Given the description of an element on the screen output the (x, y) to click on. 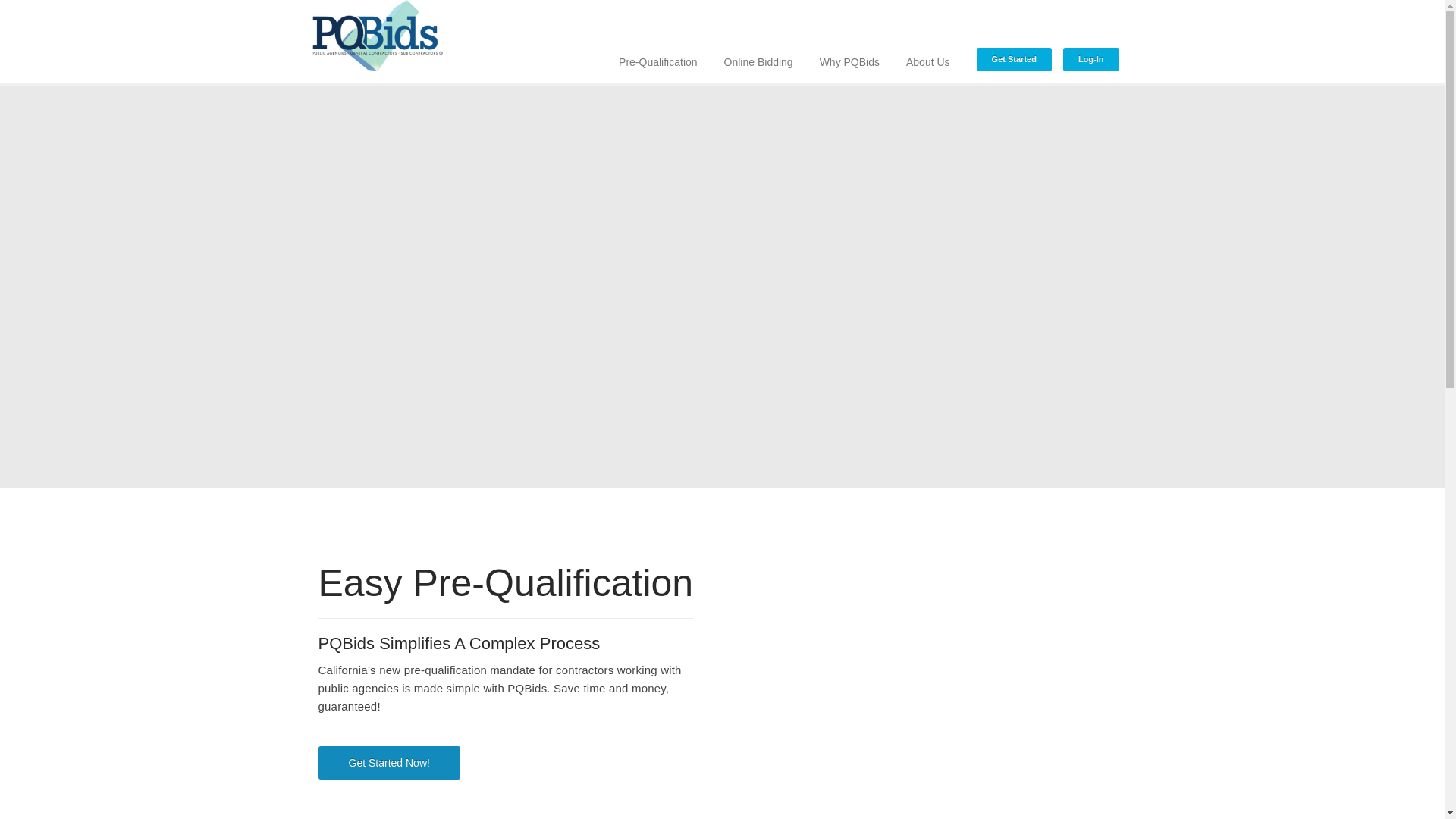
Get Started (1014, 49)
Get Started (1014, 49)
Why PQBids (849, 41)
Online Bidding (758, 41)
Get Started Now! (389, 762)
Pre-Qualification (657, 41)
